Given the description of an element on the screen output the (x, y) to click on. 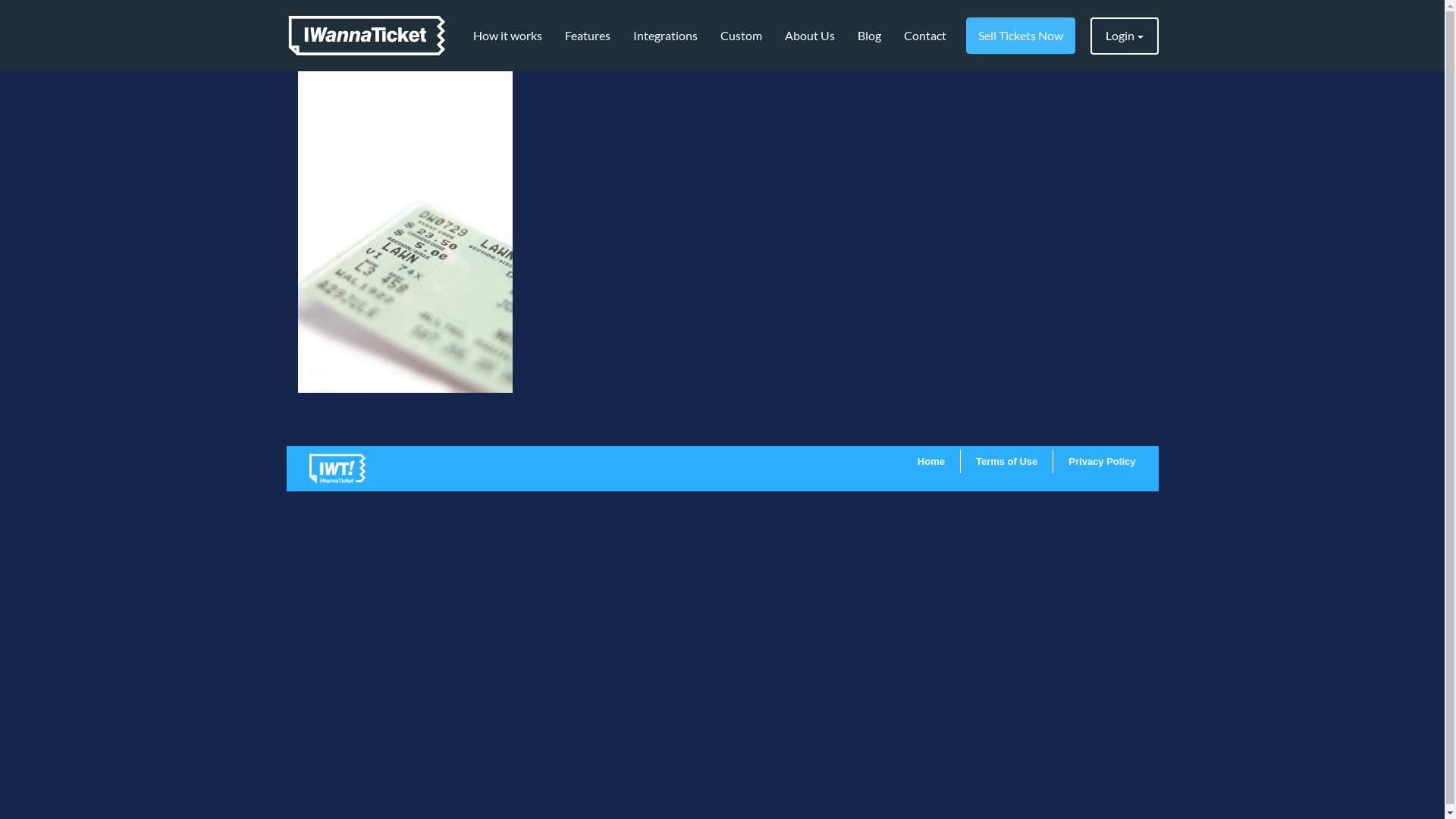
How it works Element type: text (506, 35)
Sorry Element type: hover (404, 231)
Integrations Element type: text (665, 35)
Home Element type: text (931, 461)
Contact Element type: text (924, 35)
Terms of Use Element type: text (1006, 461)
Login Element type: text (1124, 35)
Custom Element type: text (740, 35)
Sell Tickets Now Element type: text (1020, 35)
IWannaTicket Element type: text (366, 35)
Features Element type: text (587, 35)
Blog Element type: text (869, 35)
Privacy Policy Element type: text (1101, 461)
About Us Element type: text (809, 35)
